Given the description of an element on the screen output the (x, y) to click on. 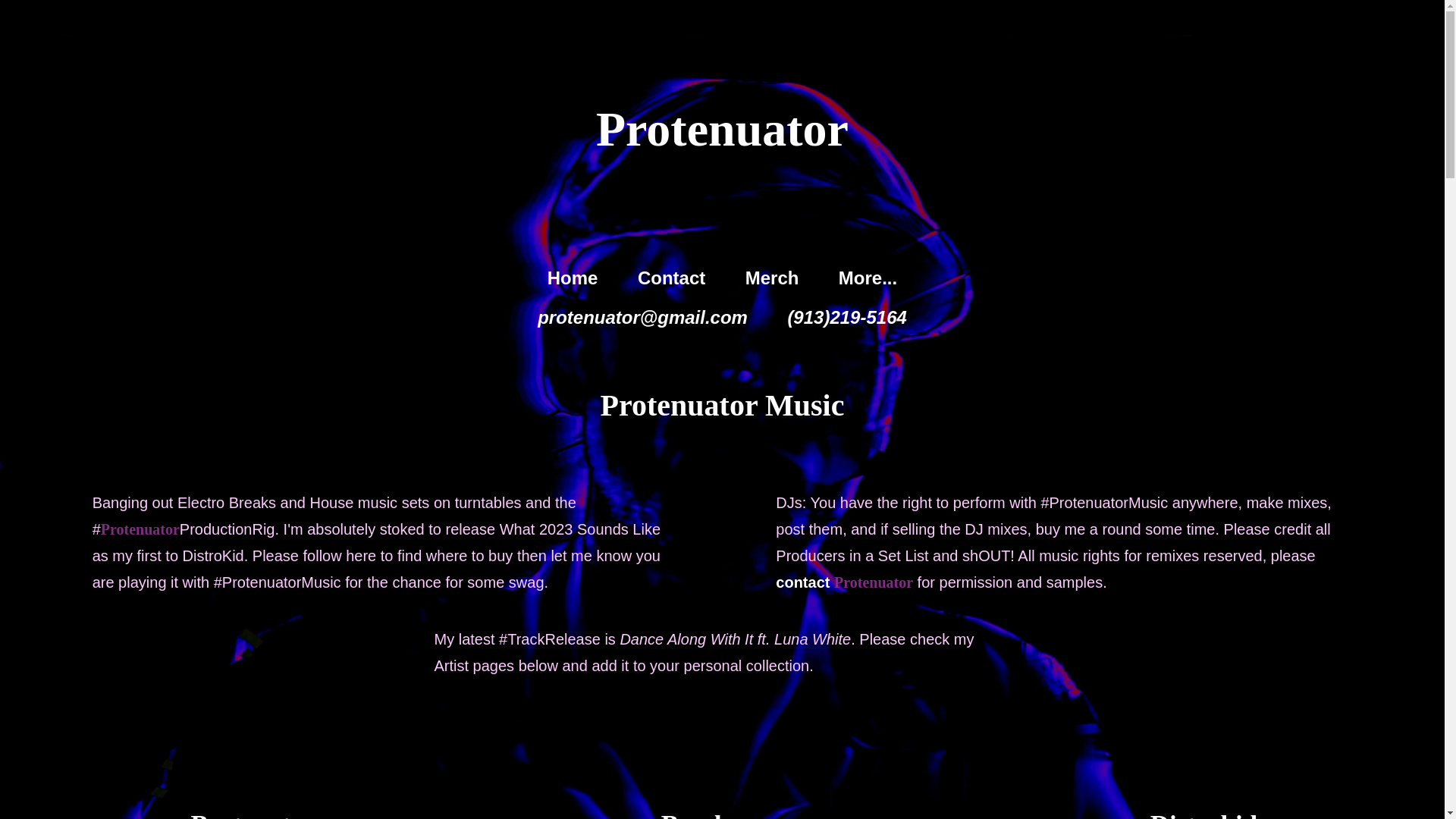
Merch (771, 277)
More... (868, 277)
contact Protenuator (844, 581)
Contact (671, 277)
click here to initiate phone call from a mobile device. (846, 317)
Home (572, 277)
